Given the description of an element on the screen output the (x, y) to click on. 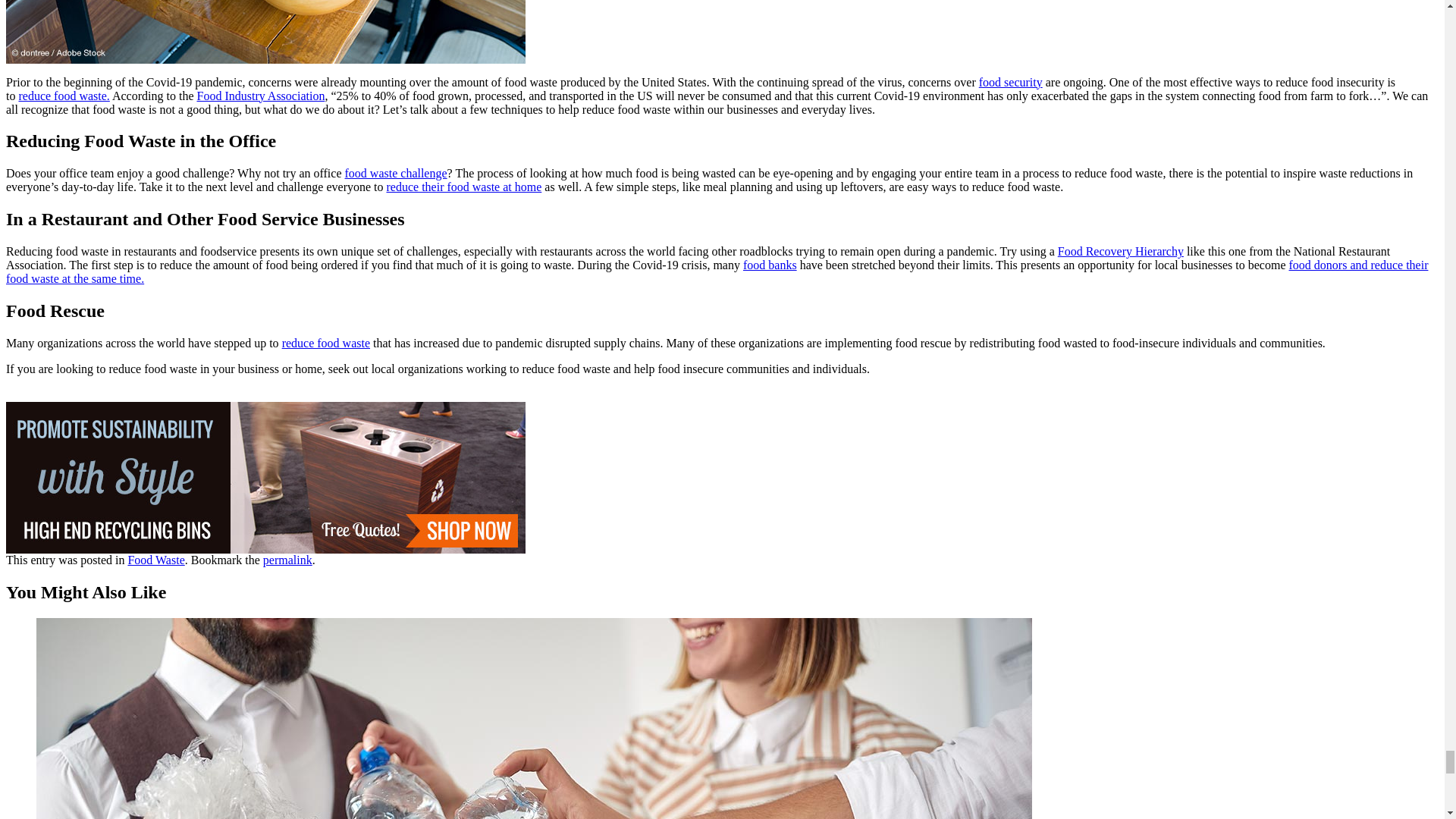
Permalink to How Your Business Can Minimize Food Waste (288, 559)
